Given the description of an element on the screen output the (x, y) to click on. 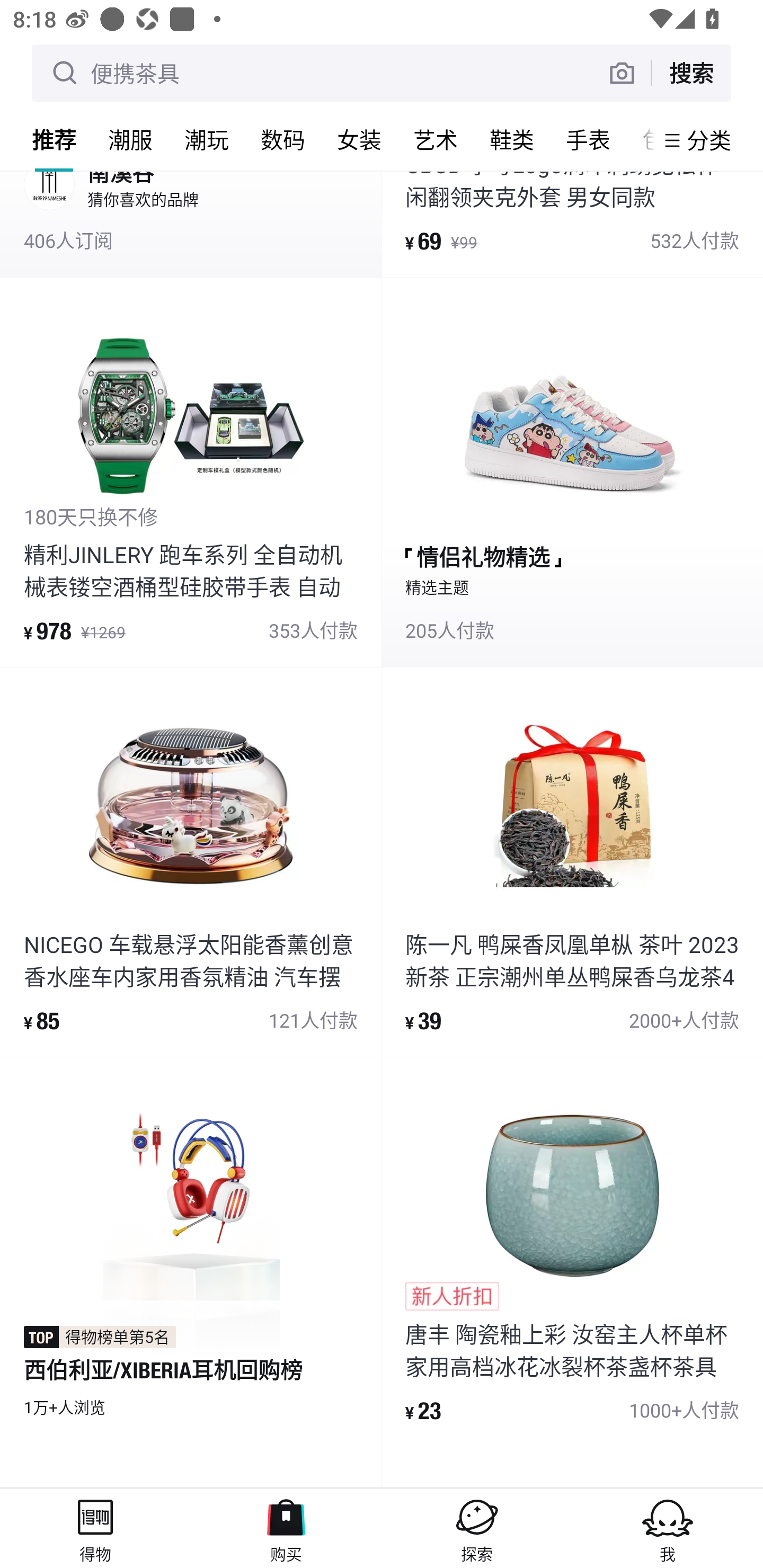
搜索 (690, 72)
推荐 (54, 139)
潮服 (130, 139)
潮玩 (206, 139)
数码 (282, 139)
女装 (359, 139)
艺术 (435, 139)
鞋类 (511, 139)
手表 (588, 139)
分类 (708, 139)
情侣礼物精选 精选主题 205人付款 (572, 471)
得物榜单第5名 西伯利亚/XIBERIA耳机回购榜 1万+人浏览 (190, 1251)
得物 (95, 1528)
购买 (285, 1528)
探索 (476, 1528)
我 (667, 1528)
